Given the description of an element on the screen output the (x, y) to click on. 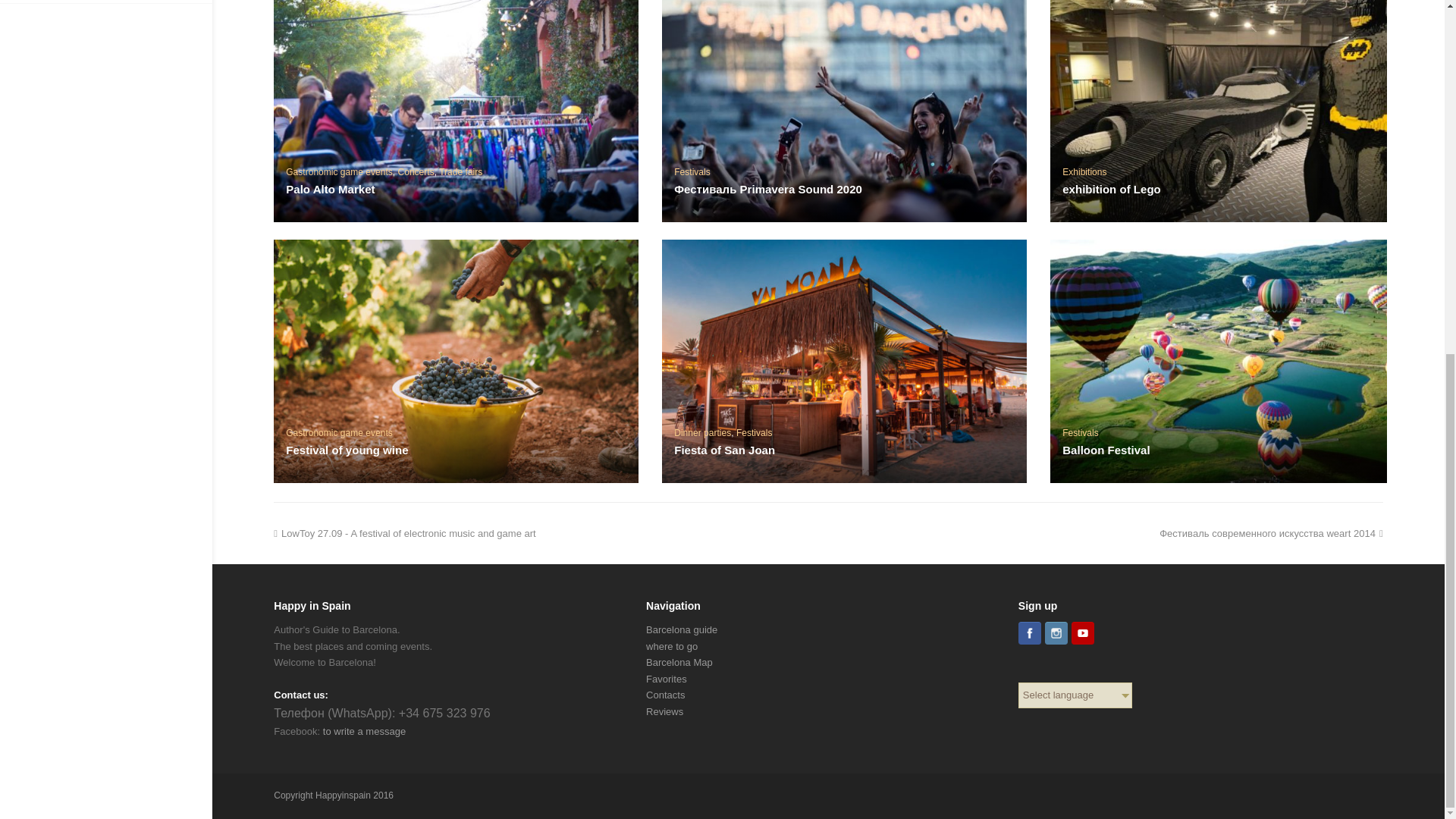
Palo Alto Market (456, 110)
